Given the description of an element on the screen output the (x, y) to click on. 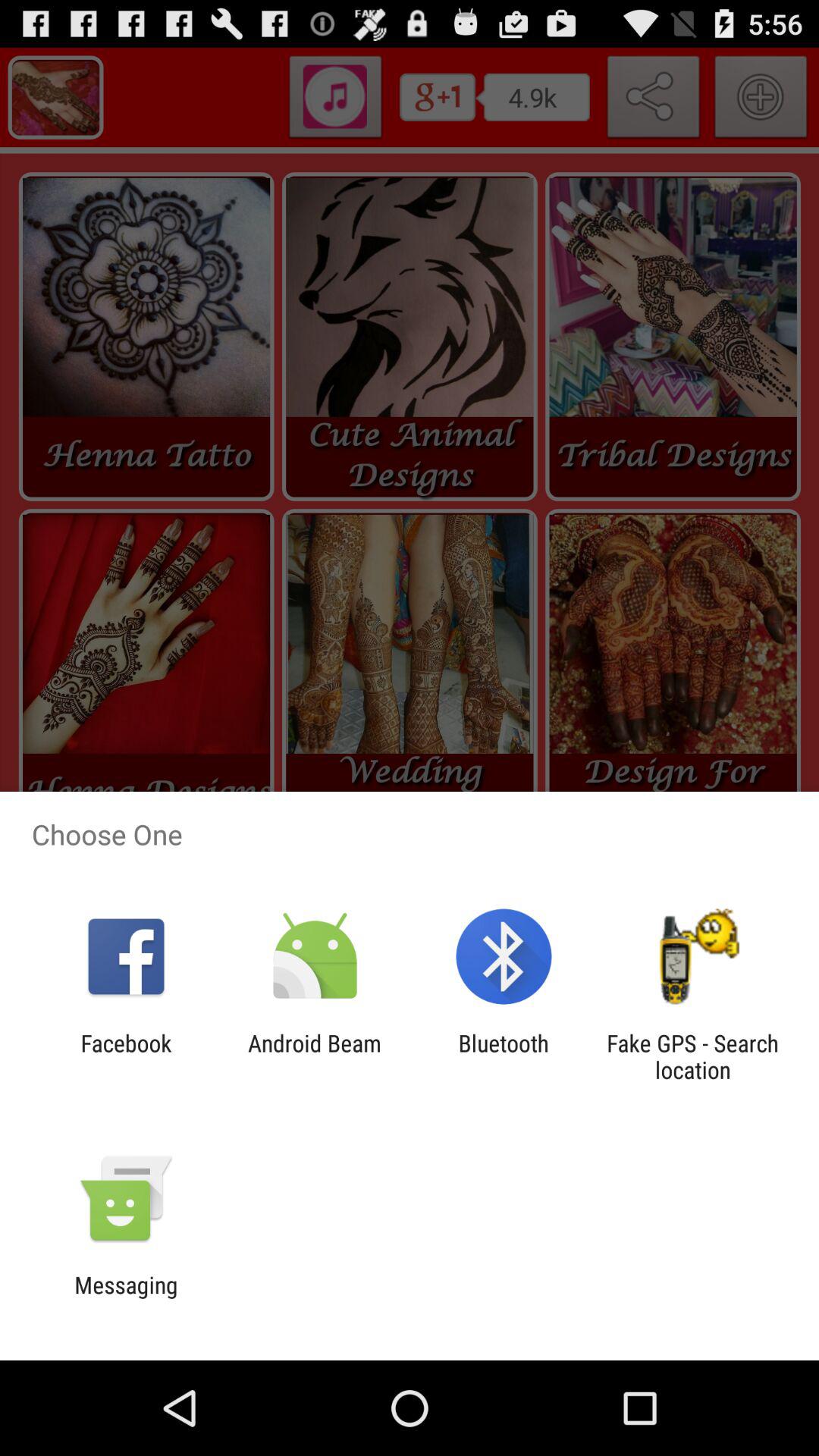
jump until the bluetooth app (503, 1056)
